Given the description of an element on the screen output the (x, y) to click on. 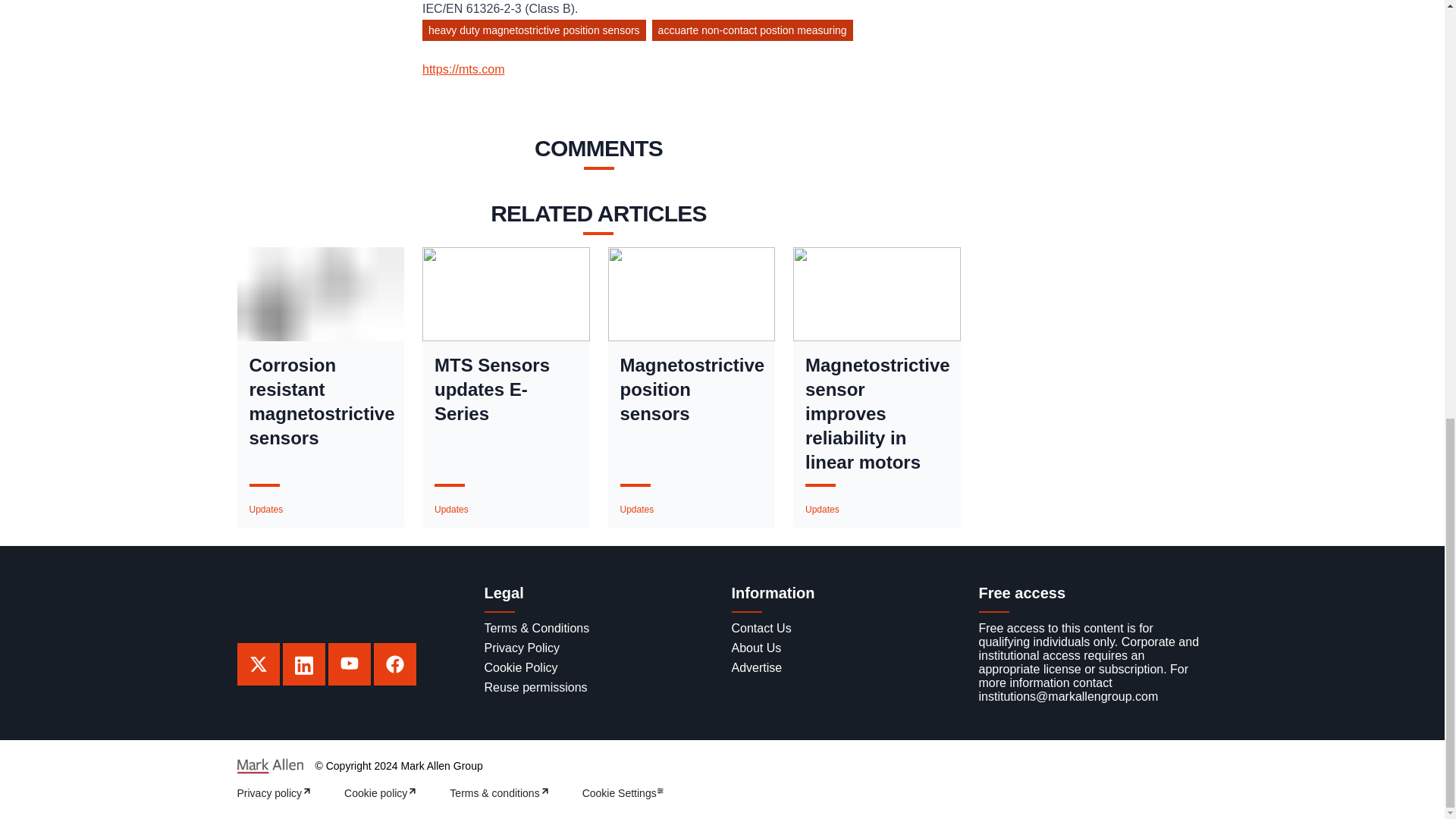
Updates (822, 509)
Updates (636, 509)
MTS Sensors updates E-Series (505, 388)
accuarte non-contact postion measuring (755, 32)
Updates (265, 509)
Magnetostrictive position sensors (691, 388)
Corrosion resistant magnetostrictive sensors (319, 401)
Updates (450, 509)
heavy duty magnetostrictive position sensors (537, 32)
